Given the description of an element on the screen output the (x, y) to click on. 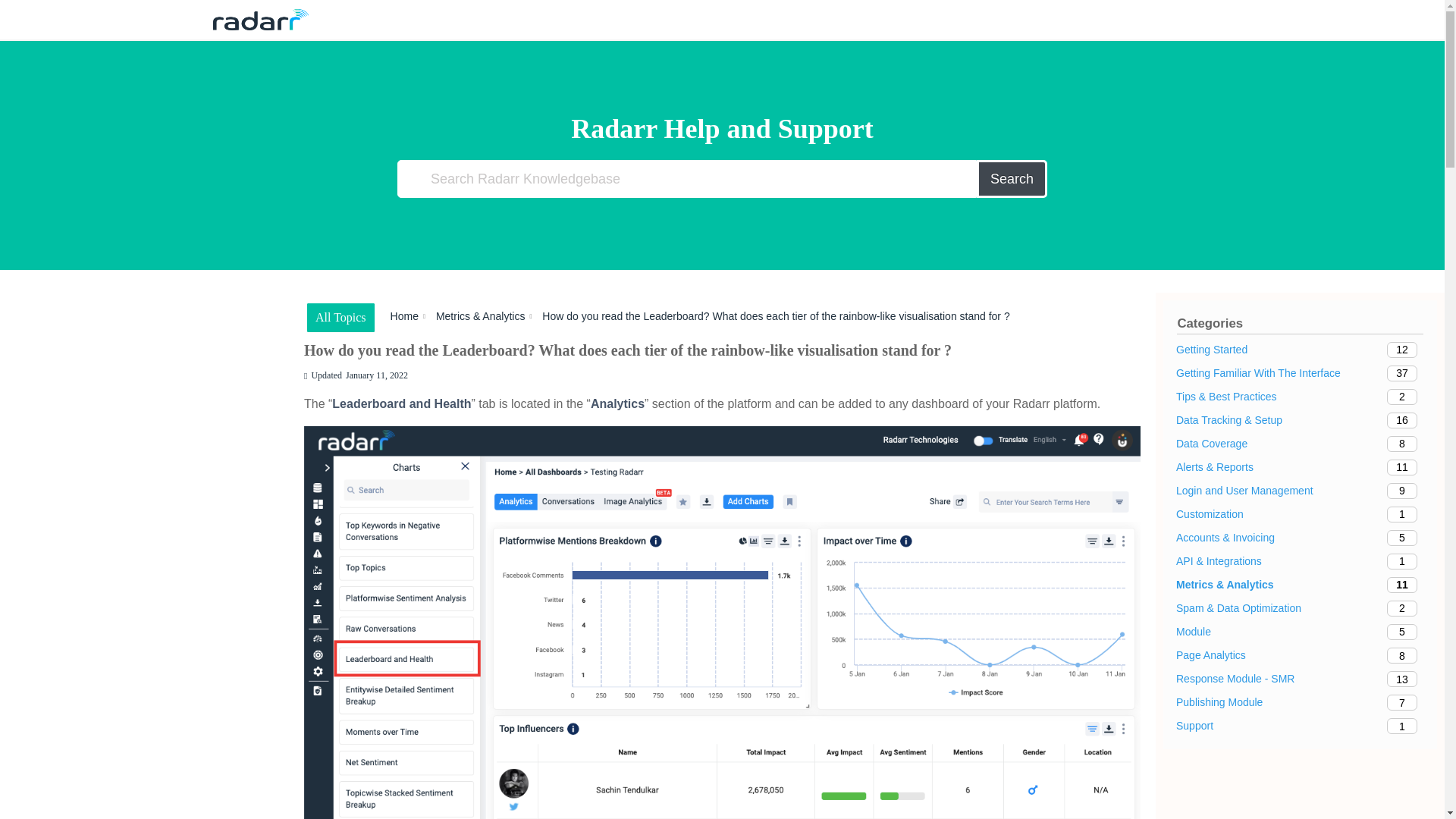
Search (1011, 178)
Home (1299, 373)
